Given the description of an element on the screen output the (x, y) to click on. 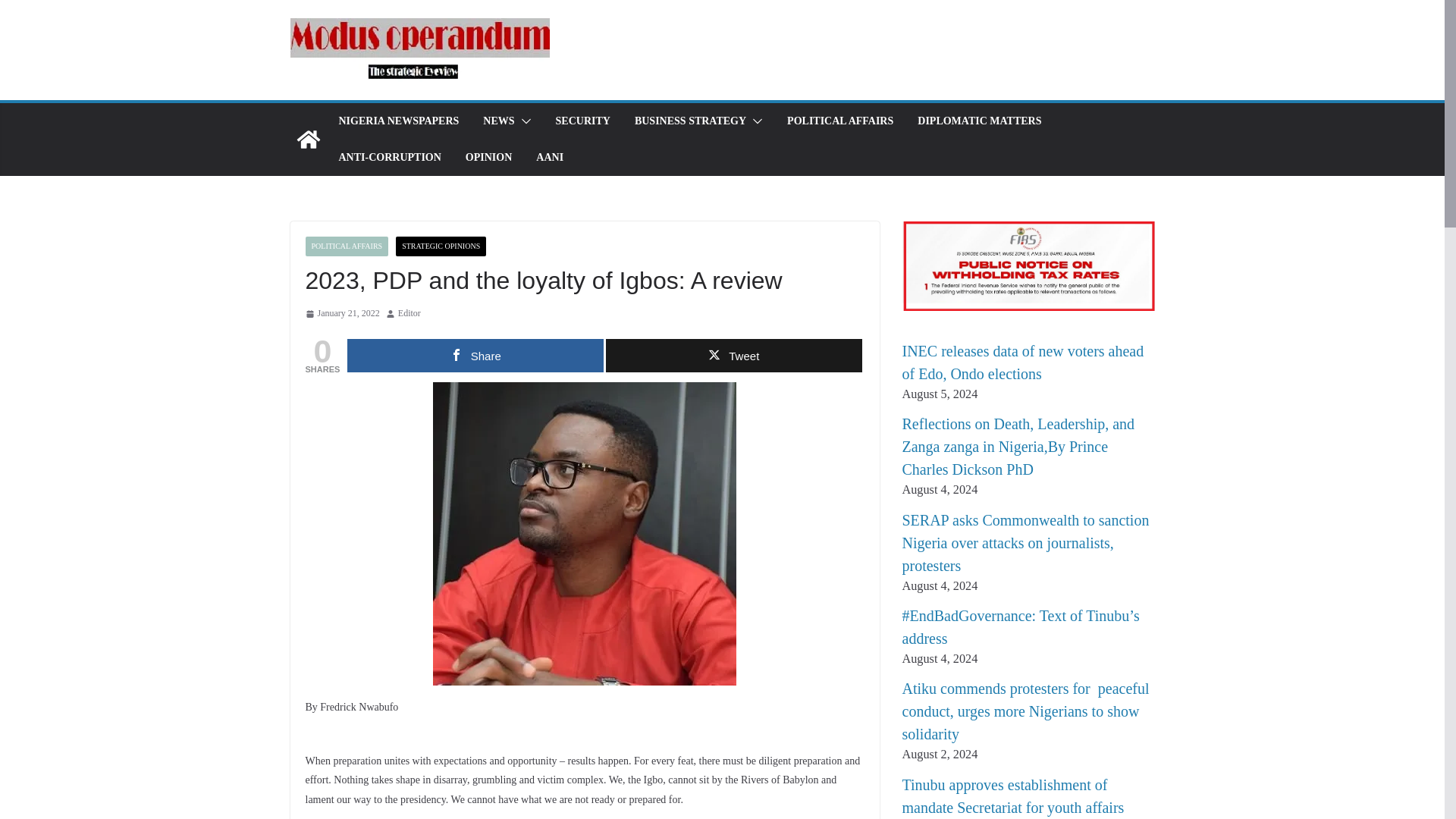
DIPLOMATIC MATTERS (979, 120)
OPINION (488, 157)
AANI (549, 157)
NIGERIA NEWSPAPERS (397, 120)
Tweet (733, 355)
BUSINESS STRATEGY (689, 120)
NEWS (498, 120)
Editor (408, 313)
Modus Operandum (307, 139)
POLITICAL AFFAIRS (840, 120)
